Given the description of an element on the screen output the (x, y) to click on. 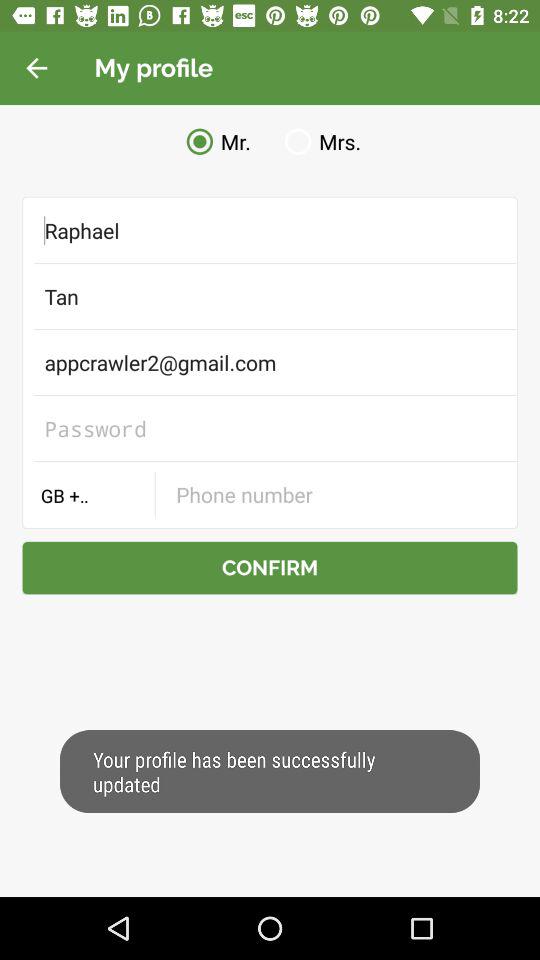
enter phone number (335, 494)
